Given the description of an element on the screen output the (x, y) to click on. 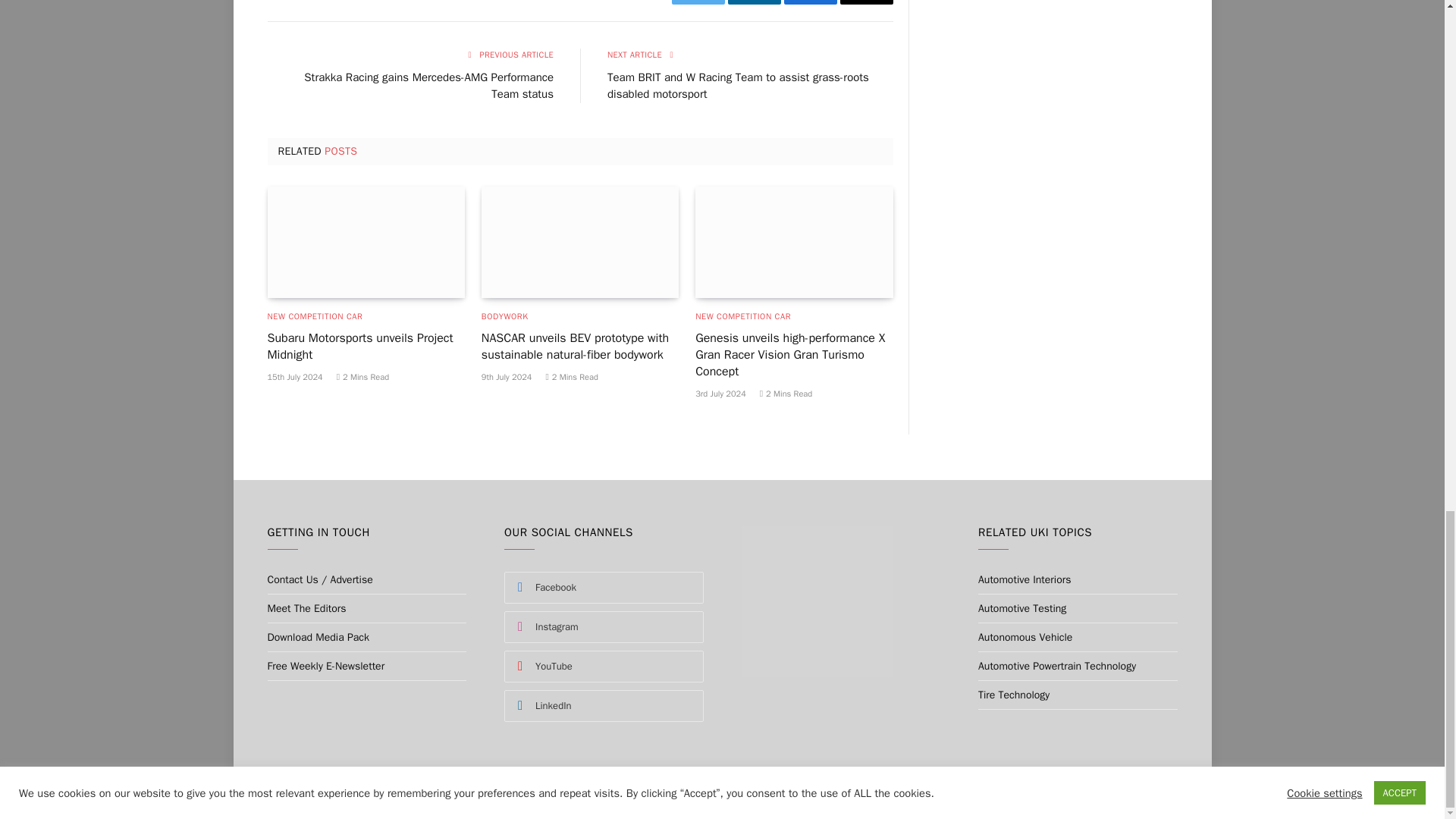
Share on LinkedIn (754, 2)
Share on Twitter (698, 2)
Share on Facebook (810, 2)
